Given the description of an element on the screen output the (x, y) to click on. 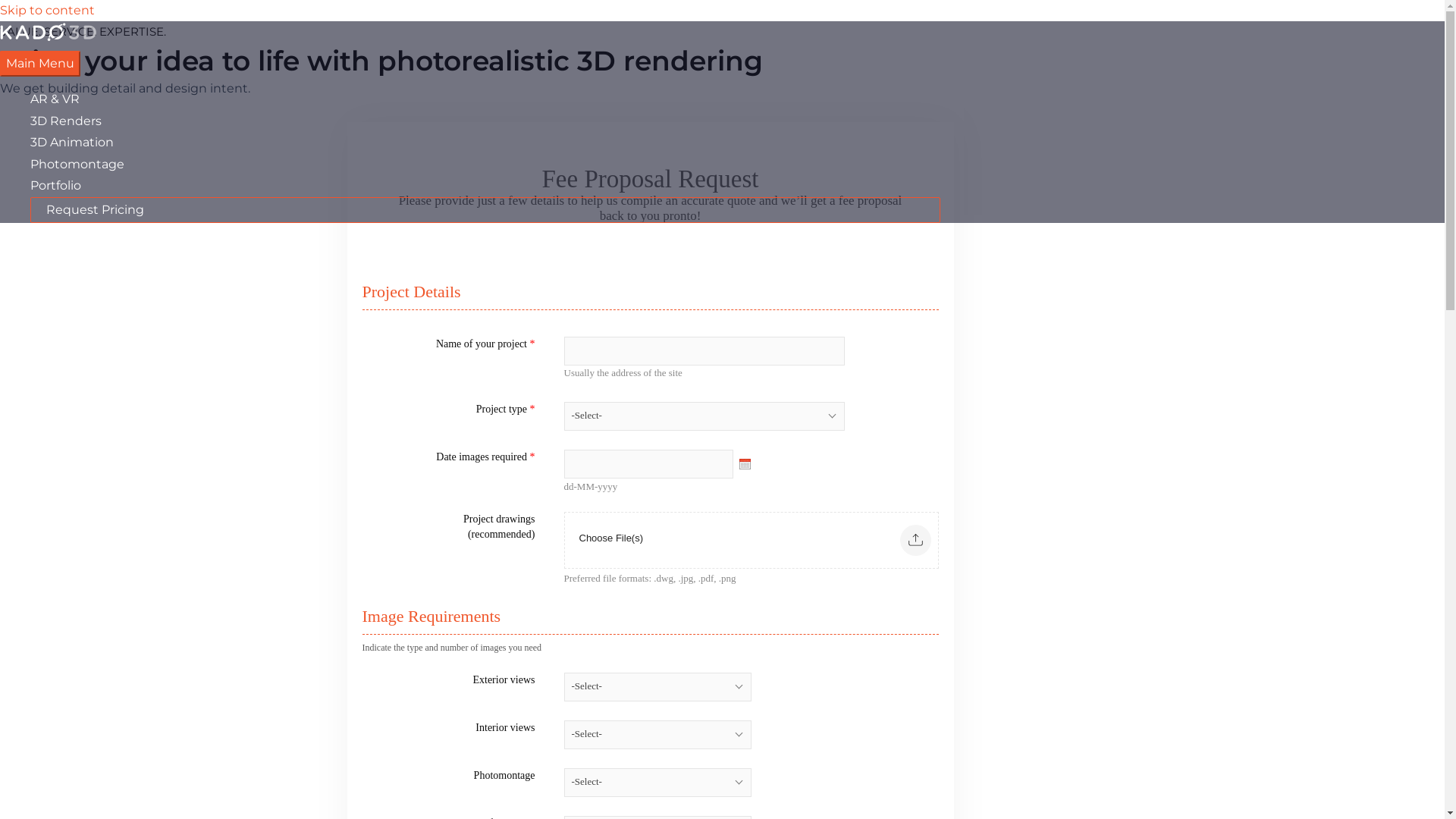
3D Renders Element type: text (485, 120)
AR & VR Element type: text (485, 98)
Request Pricing Element type: text (485, 209)
Main Menu Element type: text (40, 63)
Photomontage Element type: text (485, 164)
Portfolio Element type: text (485, 185)
Skip to content Element type: text (47, 10)
3D Animation Element type: text (485, 142)
